Given the description of an element on the screen output the (x, y) to click on. 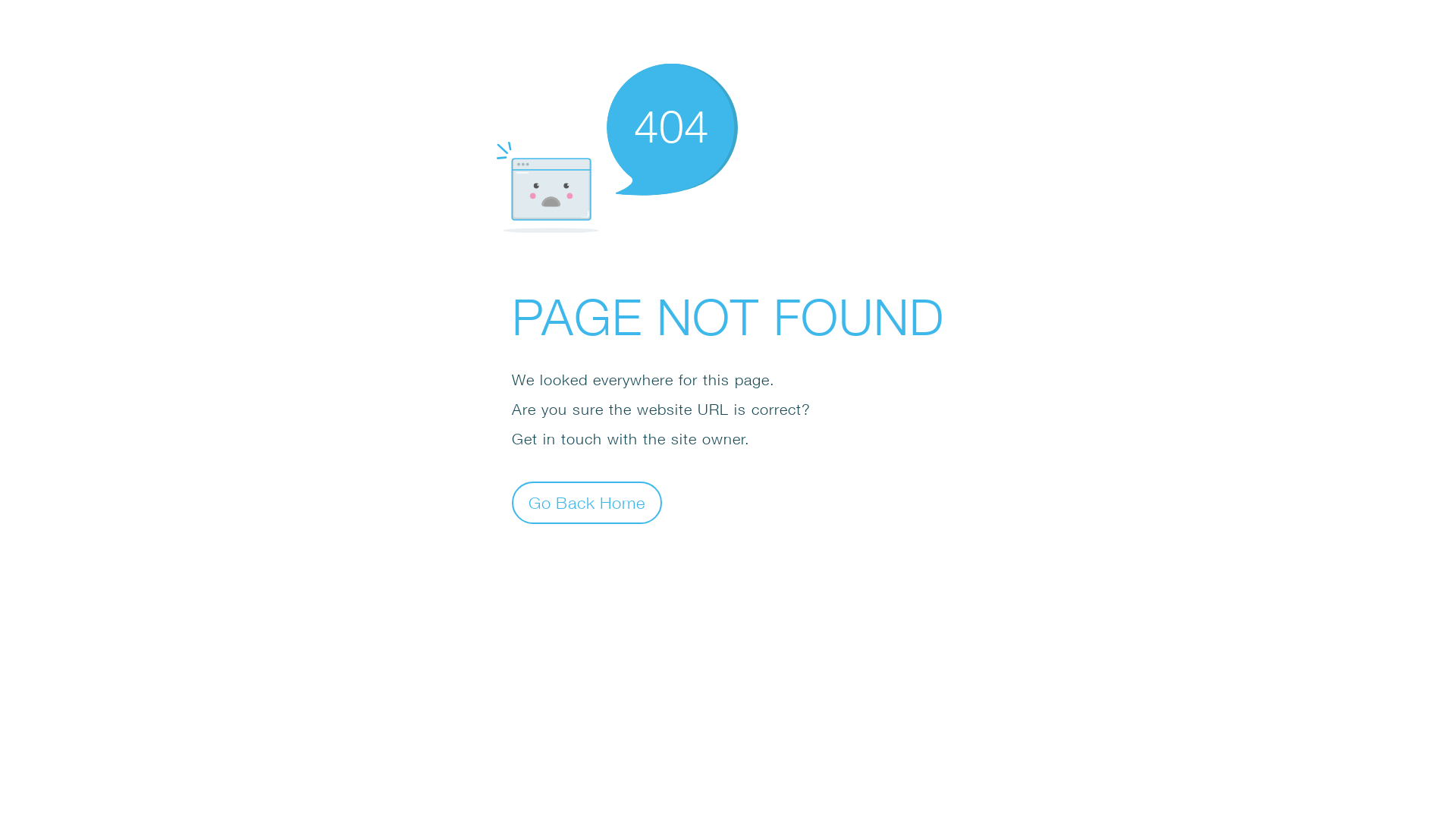
Go Back Home Element type: text (586, 502)
